Given the description of an element on the screen output the (x, y) to click on. 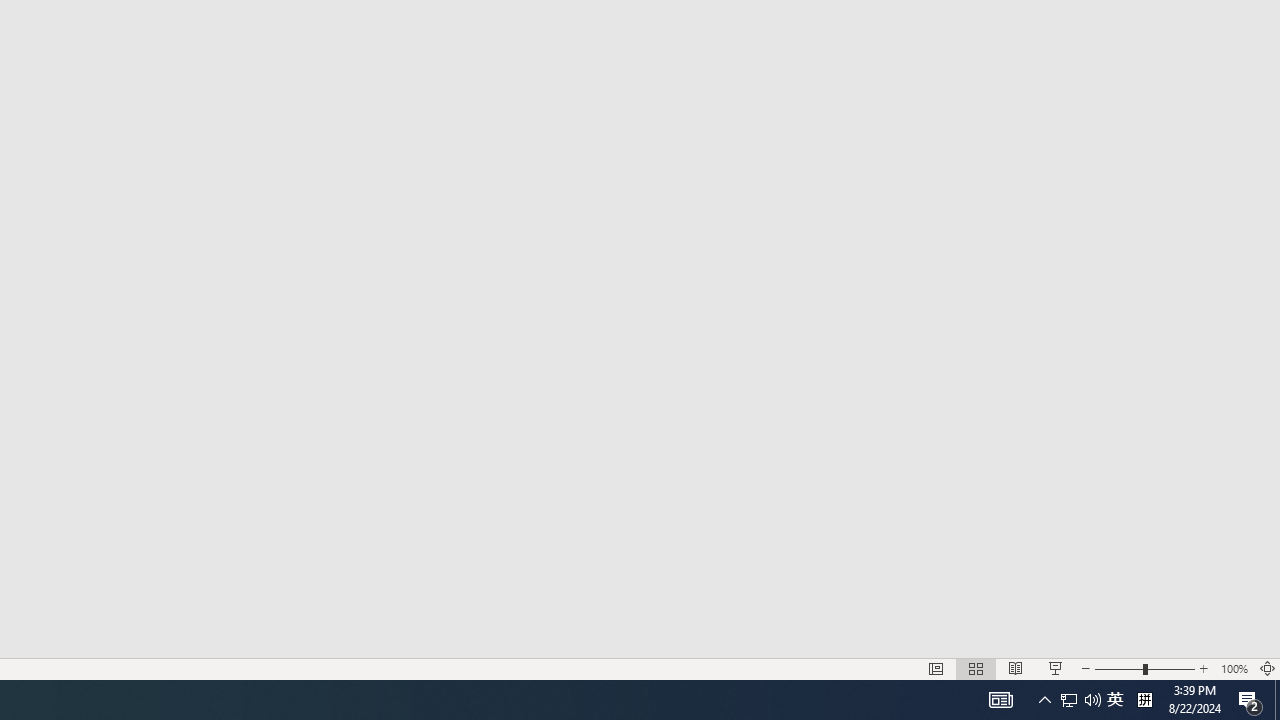
Zoom 100% (1234, 668)
